Given the description of an element on the screen output the (x, y) to click on. 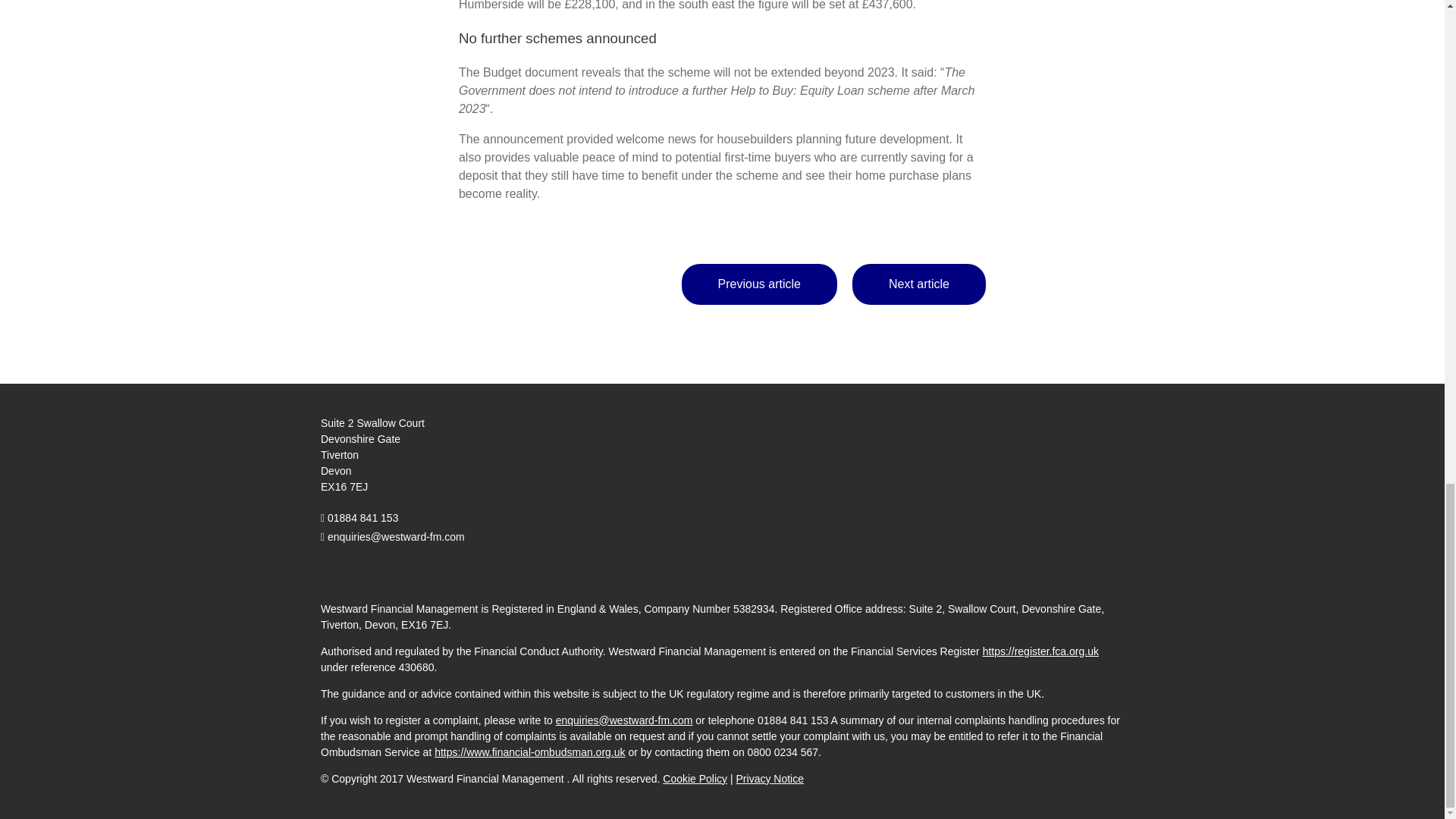
Cookie Policy (694, 778)
Previous article (759, 283)
Next article (918, 283)
01884 841 153 (362, 517)
Privacy Notice (769, 778)
